Given the description of an element on the screen output the (x, y) to click on. 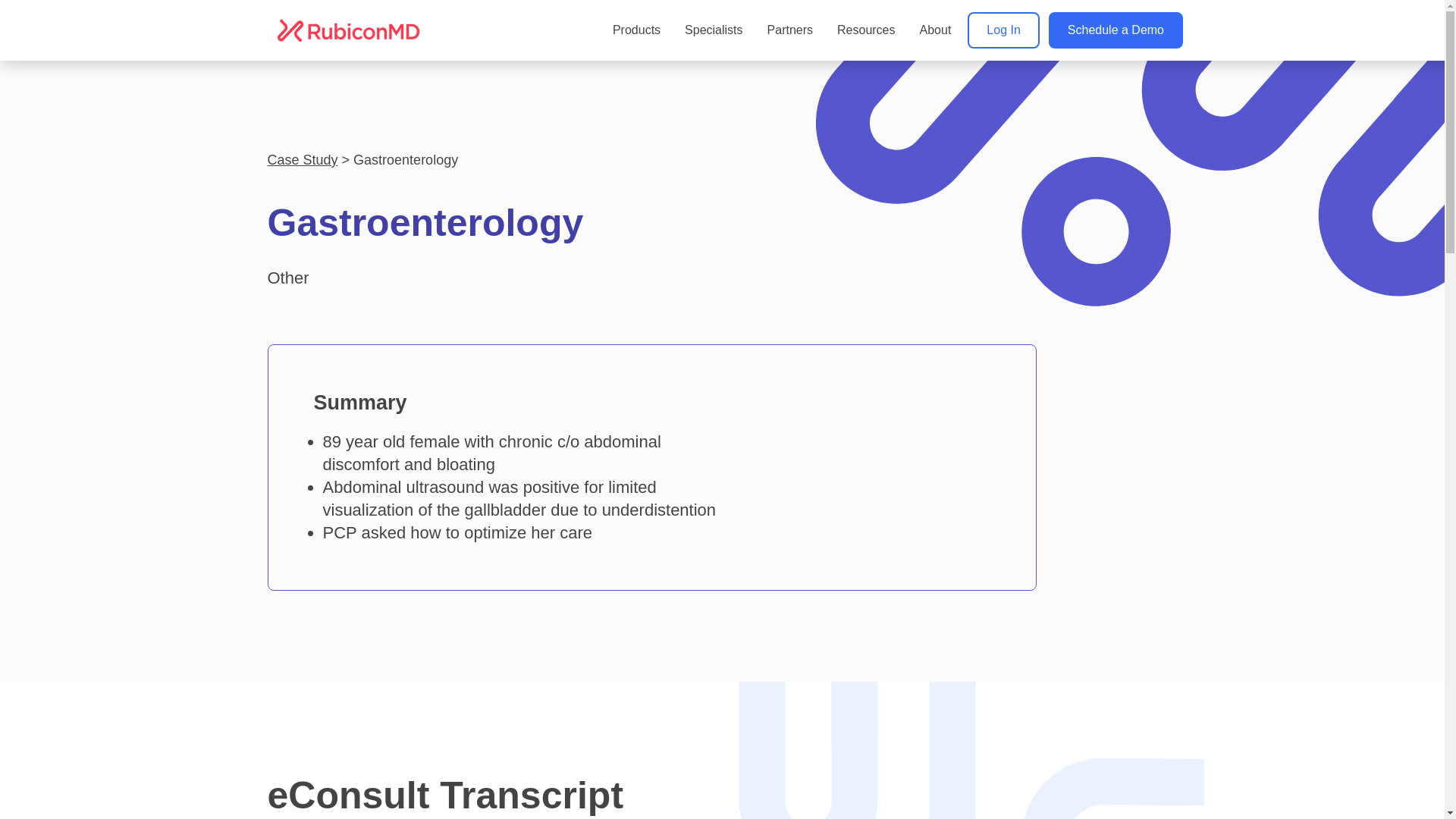
Case Study (301, 159)
Schedule a Demo (1115, 29)
Log In (1003, 29)
